Given the description of an element on the screen output the (x, y) to click on. 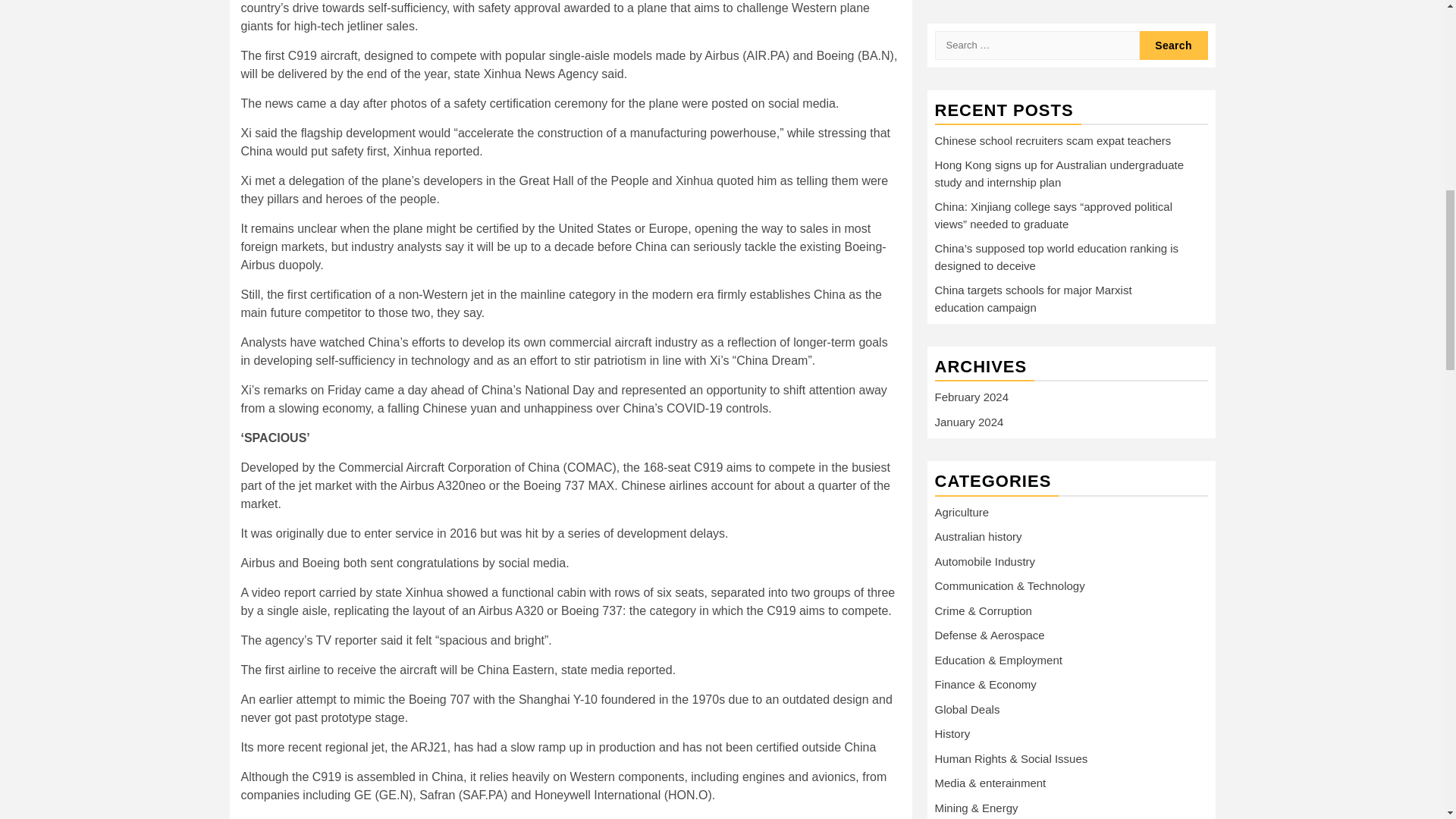
Friday (1109, 617)
Thursday (1070, 617)
Monday (954, 617)
Wednesday (1032, 617)
Tuesday (992, 617)
